Given the description of an element on the screen output the (x, y) to click on. 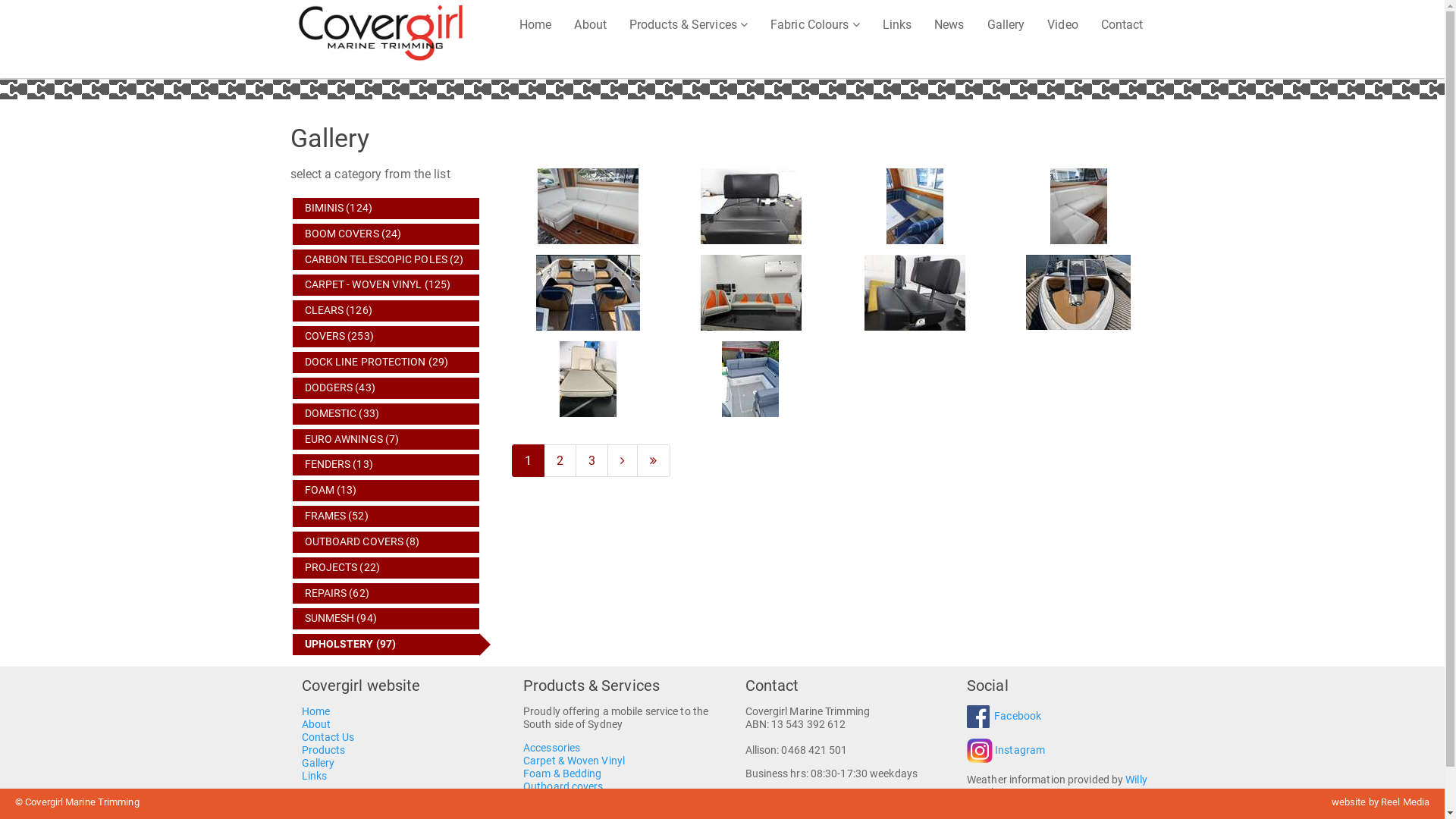
Fabric Colours Element type: text (815, 24)
Carpet & Woven Vinyl Element type: text (573, 760)
harper@optusnet.com.au Element type: text (816, 799)
OUTBOARD COVERS (8) Element type: text (386, 541)
CLEARS (126) Element type: text (386, 310)
BIMINIS (124) Element type: text (386, 208)
DODGERS (43) Element type: text (386, 387)
DOCK LINE PROTECTION (29) Element type: text (386, 362)
Home Element type: text (315, 711)
Willy Weather Element type: text (1056, 786)
CARBON TELESCOPIC POLES (2) Element type: text (386, 259)
Products & Services Element type: text (688, 24)
FOAM (13) Element type: text (386, 490)
UPHOLSTERY (97) Element type: text (386, 644)
EURO AWNINGS (7) Element type: text (386, 439)
Contact Us Element type: text (327, 737)
Gallery Element type: text (318, 762)
PROJECTS (22) Element type: text (386, 567)
DOMESTIC (33) Element type: text (386, 413)
CARPET - WOVEN VINYL (125) Element type: text (386, 284)
Accessories Element type: text (551, 747)
Maintenance Element type: text (554, 799)
Products Element type: text (323, 749)
2 Element type: text (559, 460)
Gallery Element type: text (1005, 24)
3 Element type: text (591, 460)
Instagram Element type: text (1019, 749)
FENDERS (13) Element type: text (386, 464)
Foam & Bedding Element type: text (562, 773)
COVERS (253) Element type: text (386, 336)
BOOM COVERS (24) Element type: text (386, 233)
News Element type: text (948, 24)
About Element type: text (316, 724)
Links Element type: text (897, 24)
1 Element type: text (527, 460)
Outboard covers Element type: text (563, 786)
About Element type: text (590, 24)
Facebook Element type: text (1017, 715)
Home Element type: text (535, 24)
REPAIRS (62) Element type: text (386, 593)
Reel Media Element type: text (1404, 801)
FRAMES (52) Element type: text (386, 516)
Video Element type: text (1062, 24)
Contact Element type: text (1121, 24)
SUNMESH (94) Element type: text (386, 618)
Links Element type: text (314, 775)
